Given the description of an element on the screen output the (x, y) to click on. 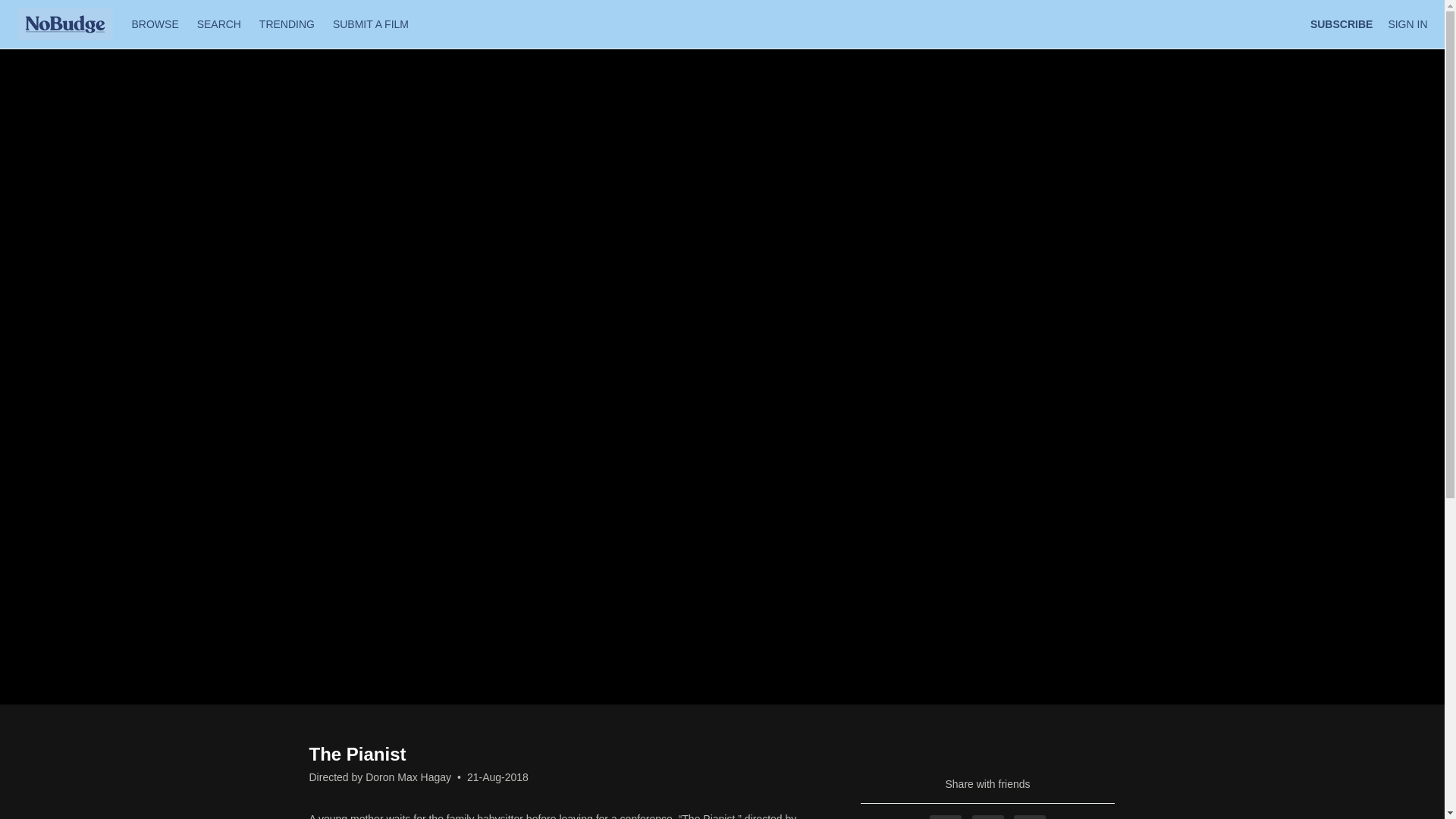
SIGN IN (1406, 24)
SUBSCRIBE (1341, 24)
BROWSE (156, 24)
21-Aug-2018 (497, 776)
Directed by Doron Max Hagay (379, 776)
TRENDING (286, 24)
SUBMIT A FILM (370, 24)
Facebook (945, 816)
Skip to main content (48, 7)
SEARCH (220, 24)
